Given the description of an element on the screen output the (x, y) to click on. 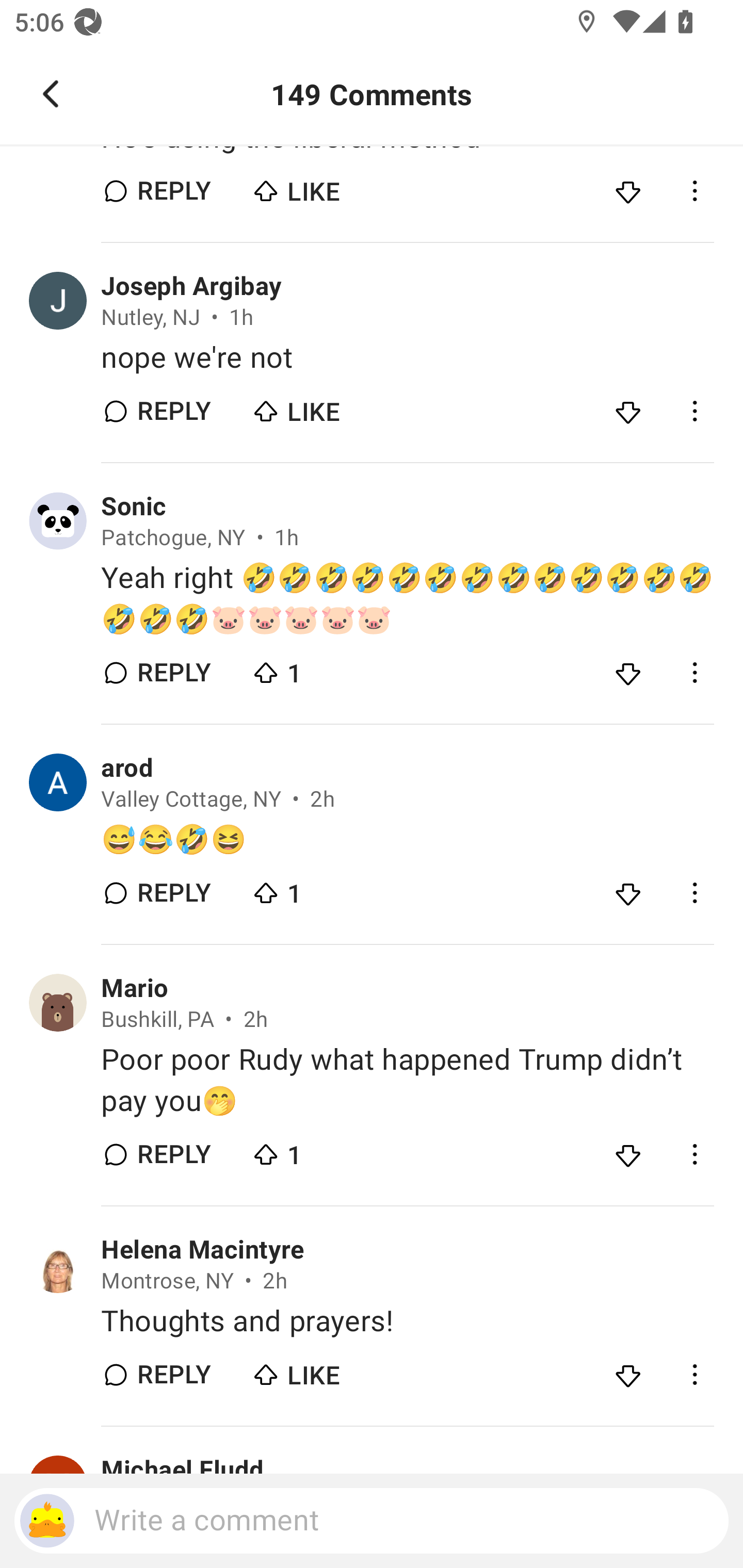
Navigate up (50, 93)
LIKE (320, 186)
REPLY (173, 190)
Joseph Argibay (191, 286)
nope we're not (407, 357)
LIKE (320, 406)
REPLY (173, 411)
Sonic (133, 507)
Yeah right 🤣🤣🤣🤣🤣🤣🤣🤣🤣🤣🤣🤣🤣🤣🤣🤣🐷🐷🐷🐷🐷 (407, 598)
1 (320, 668)
REPLY (173, 673)
arod (127, 768)
😅😂🤣😆 (407, 839)
1 (320, 888)
REPLY (173, 892)
Mario (134, 988)
Poor poor Rudy what happened Trump didn’t pay you🤭 (407, 1079)
1 (320, 1149)
REPLY (173, 1154)
Helena Macintyre (202, 1250)
Thoughts and prayers! (407, 1321)
LIKE (320, 1370)
REPLY (173, 1374)
Write a comment (371, 1520)
